Given the description of an element on the screen output the (x, y) to click on. 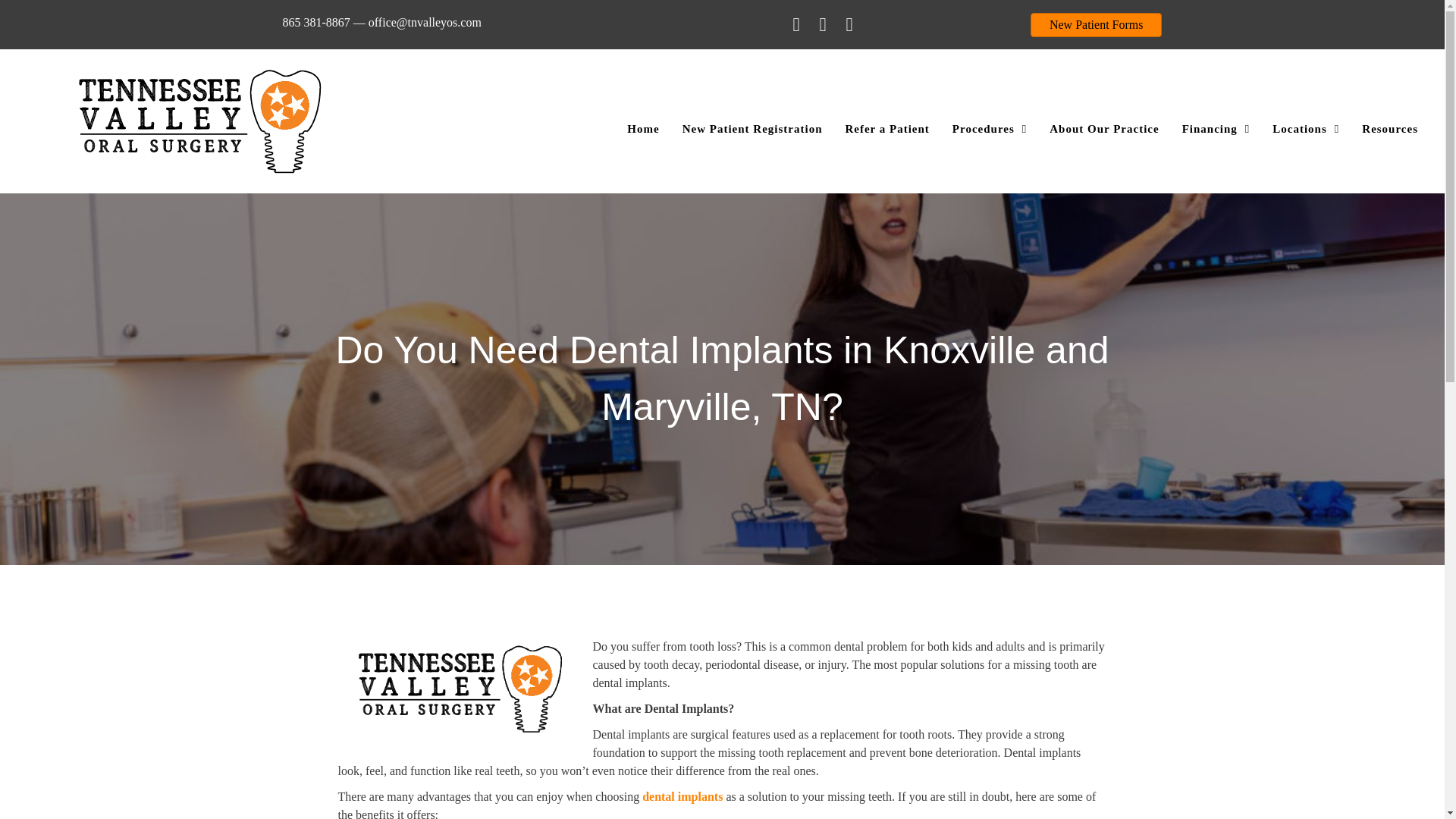
Procedures (988, 128)
865 381-8867 (315, 21)
Refer a Patient (886, 128)
New Patient Registration (752, 128)
About Our Practice (1104, 128)
Home (643, 128)
Financing (1215, 128)
dental implants (682, 796)
Locations (1305, 128)
Resources (1389, 128)
